Given the description of an element on the screen output the (x, y) to click on. 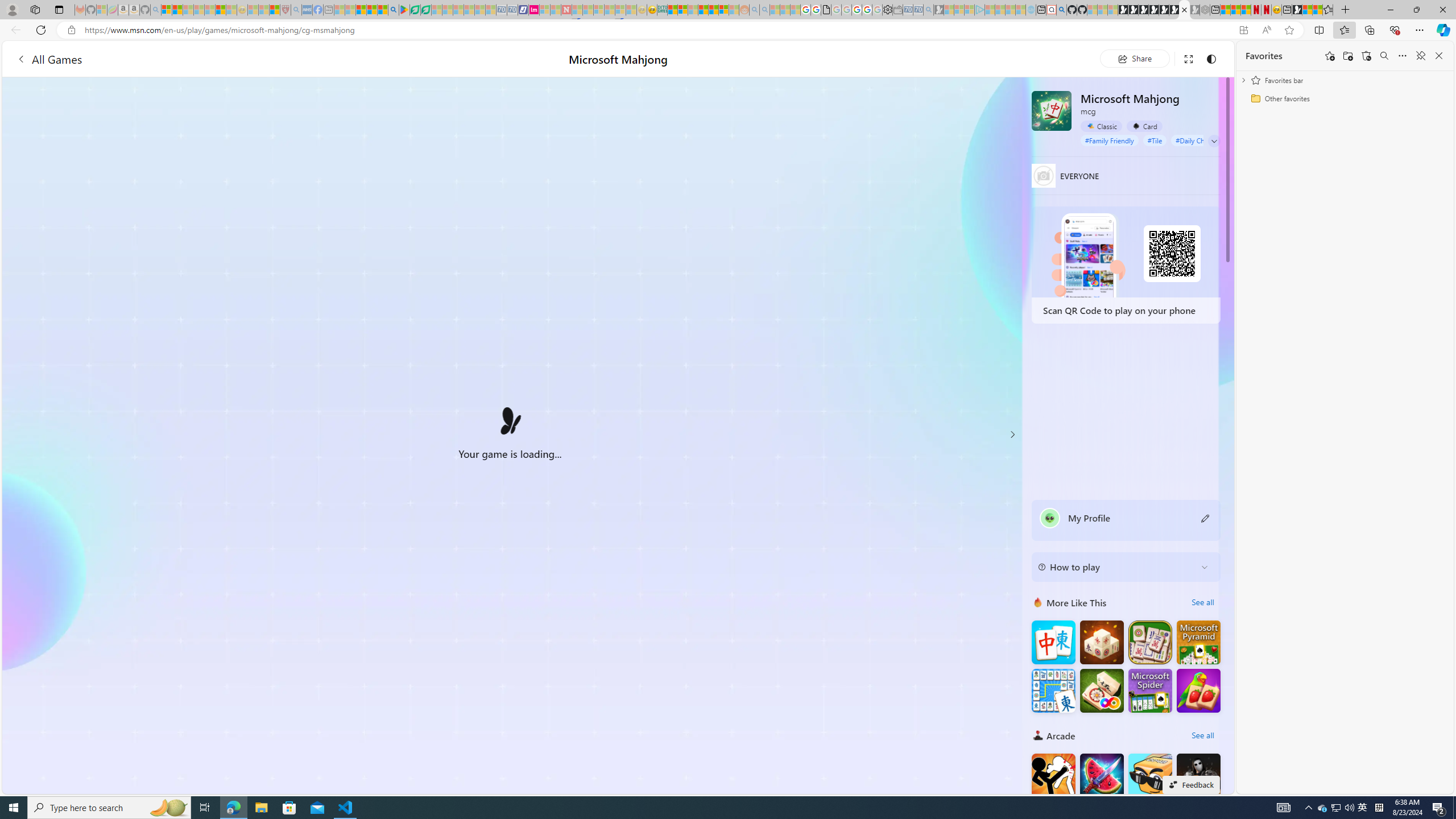
Wildlife - MSN (1307, 9)
Add this page to favorites (1330, 55)
Kinda Frugal - MSN (713, 9)
Terms of Use Agreement (414, 9)
Fruit Chopper (1101, 775)
Full screen (1187, 58)
Close favorites (1439, 55)
See all (1202, 735)
